Given the description of an element on the screen output the (x, y) to click on. 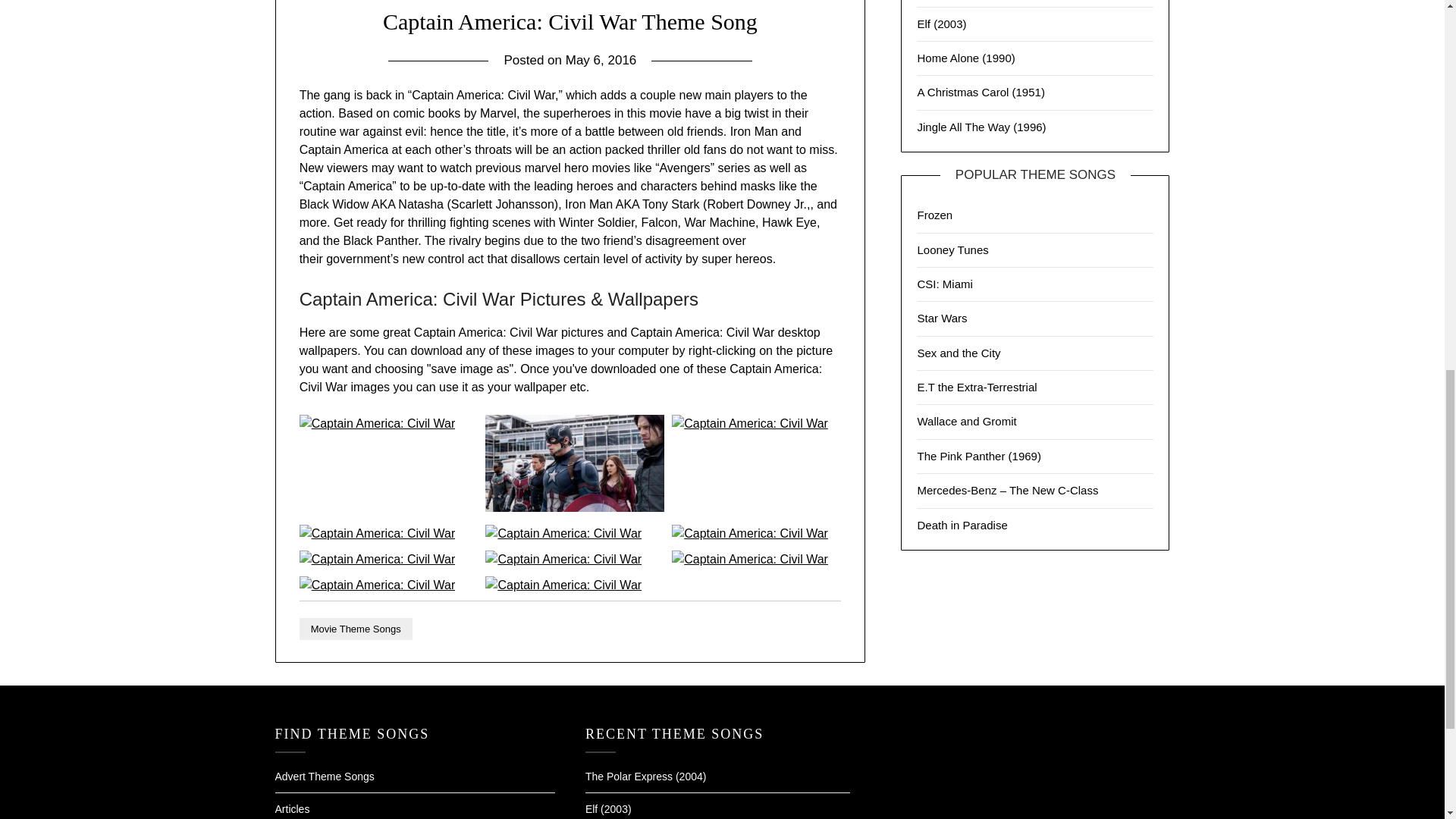
Captain America: Civil War (563, 558)
E.T the Extra-Terrestrial (976, 386)
Captain America: Civil War (749, 422)
Sex and the City (958, 352)
Captain America: Civil War (563, 584)
May 6, 2016 (601, 60)
Movie Theme Songs (355, 628)
Looney Tunes (952, 248)
Captain America: Civil War (563, 533)
Star Wars (941, 318)
Captain America: Civil War (377, 584)
Captain America: Civil War (573, 507)
Wallace and Gromit (966, 420)
Captain America: Civil War (377, 558)
Captain America: Civil War (377, 422)
